Given the description of an element on the screen output the (x, y) to click on. 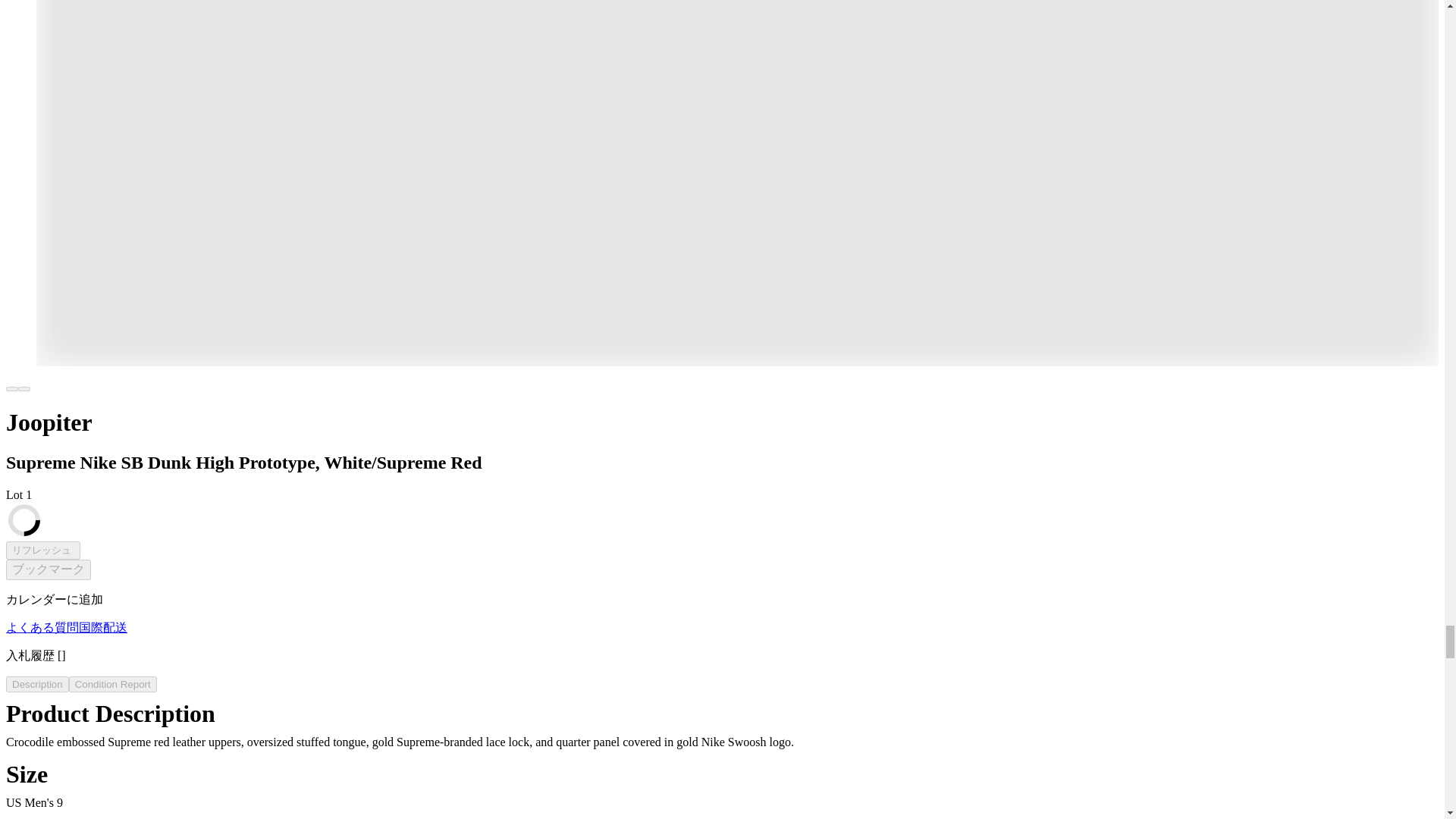
Loading... (23, 520)
Condition Report (112, 684)
Description (36, 684)
